Given the description of an element on the screen output the (x, y) to click on. 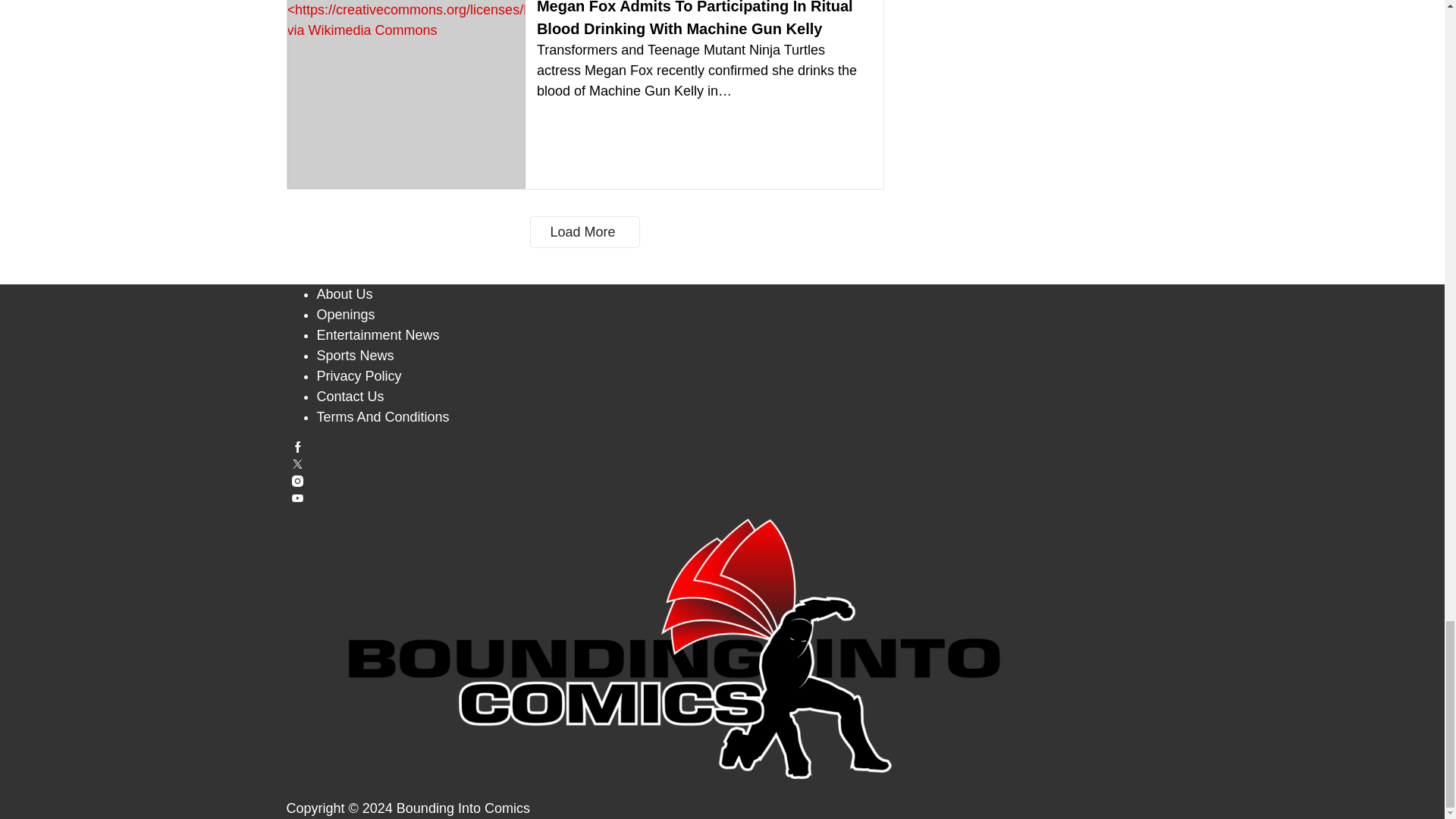
Subscribe to our YouTube channel (722, 498)
Follow us on Instagram (722, 480)
Follow us on Facebook (722, 446)
Follow us on Twitter (722, 464)
